Given the description of an element on the screen output the (x, y) to click on. 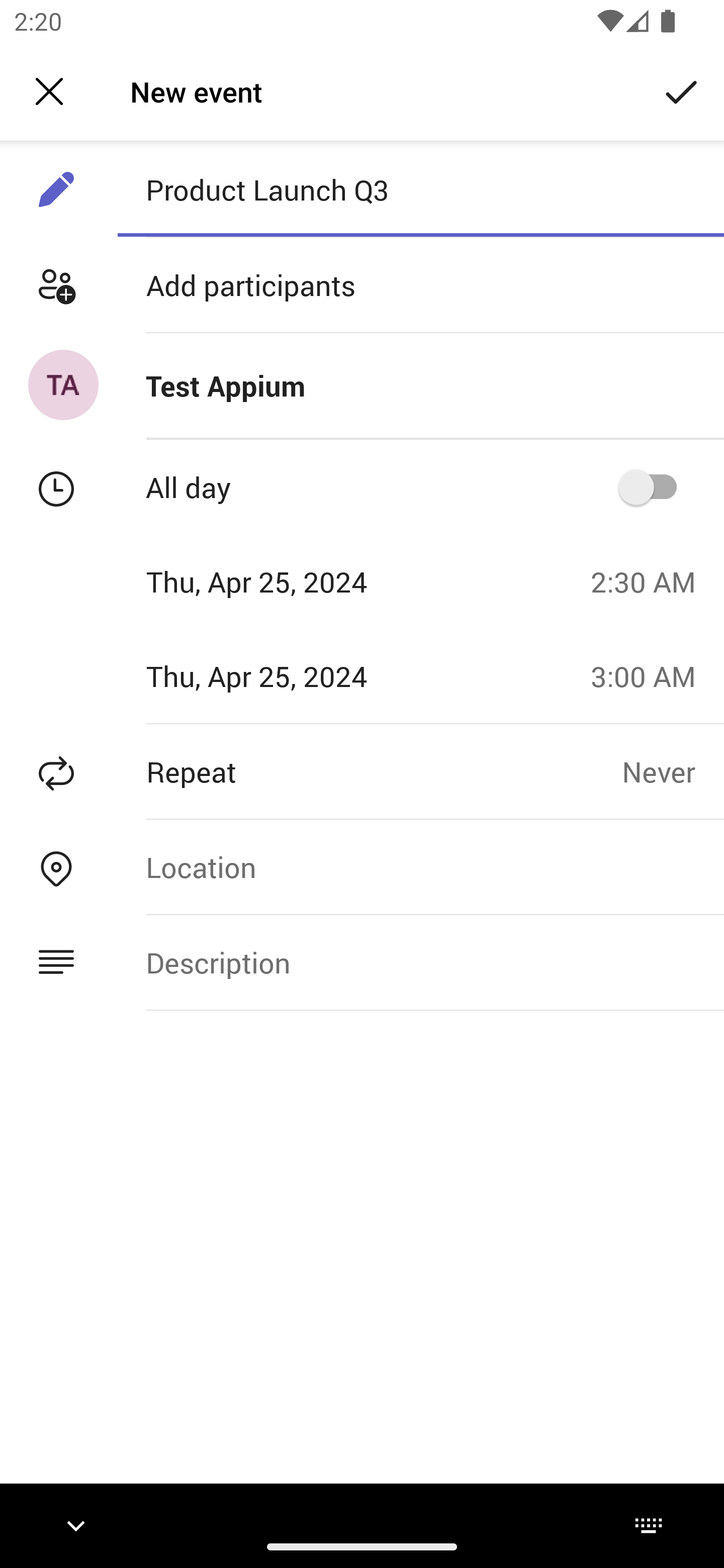
Back (49, 91)
Send invite (681, 90)
Product Launch Q3 (420, 189)
Add participants Add participants option (362, 285)
All day (654, 486)
Thu, Apr 25, 2024 Starts Thursday Apr 25, 2024 (288, 581)
2:30 AM Start time 2:30 AM (650, 581)
Thu, Apr 25, 2024 Ends Thursday Apr 25, 2024 (288, 675)
3:00 AM End time 3:00 AM (650, 675)
Repeat (310, 771)
Never Repeat Never (672, 771)
Location (420, 867)
Description (420, 962)
